Given the description of an element on the screen output the (x, y) to click on. 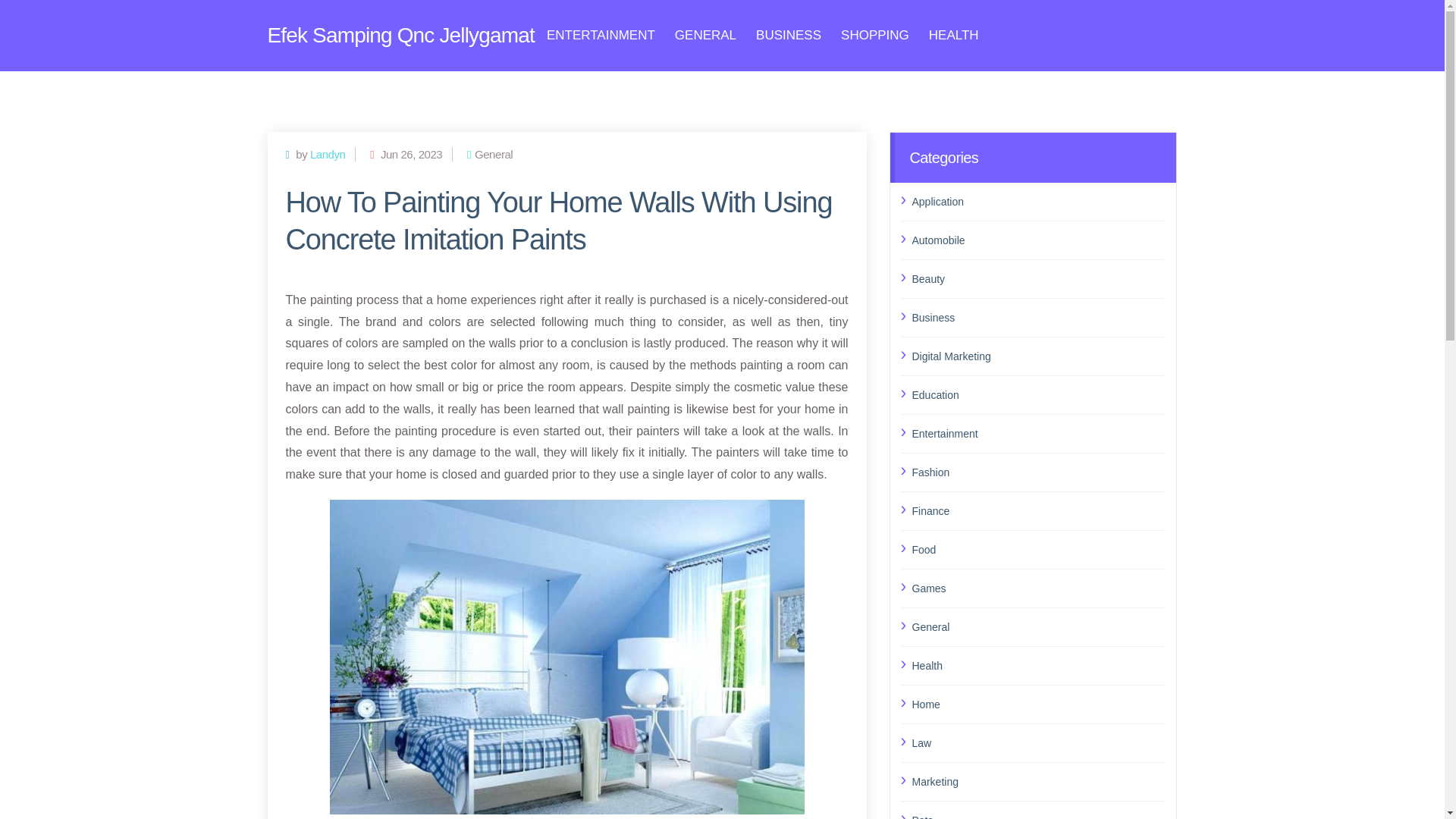
Automobile (1038, 240)
Health (1038, 664)
Entertainment (1038, 433)
Application (1038, 200)
Law (1038, 742)
Landyn (328, 153)
BUSINESS (788, 35)
Home (1038, 704)
ENTERTAINMENT (601, 35)
Fashion (1038, 472)
General (1038, 627)
Pets (1038, 814)
Games (1038, 587)
Efek Samping Qnc Jellygamat (400, 35)
SHOPPING (874, 35)
